Given the description of an element on the screen output the (x, y) to click on. 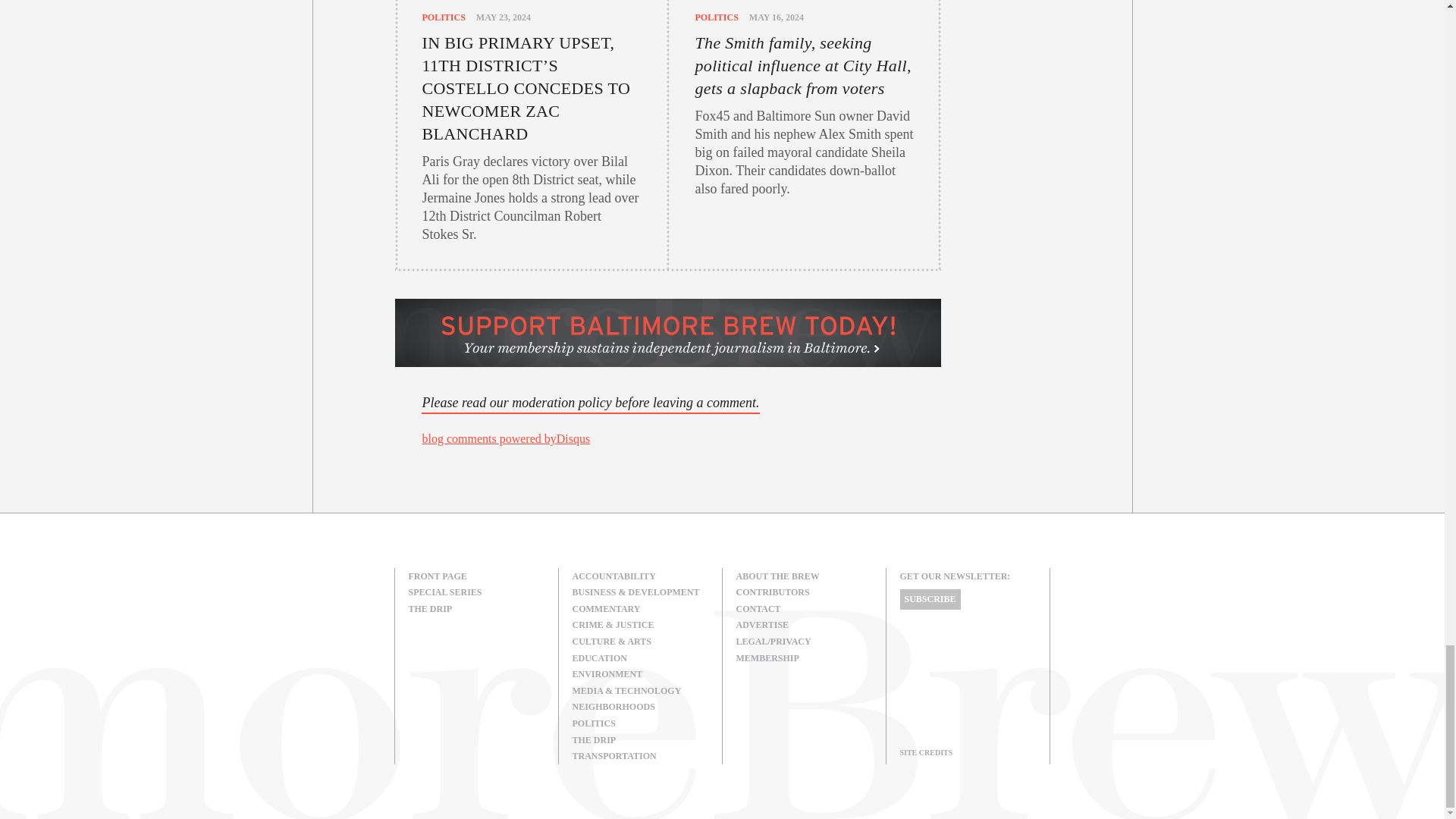
Another display of Tammany Hall, Towson-style (667, 439)
blog comments powered byDisqus (505, 438)
SPECIAL SERIES (475, 592)
THE DRIP (475, 609)
POLITICS (716, 17)
COMMENTARY (639, 609)
ACCOUNTABILITY (639, 576)
Please read our moderation policy before leaving a comment. (590, 402)
FRONT PAGE (475, 576)
POLITICS (443, 17)
